Given the description of an element on the screen output the (x, y) to click on. 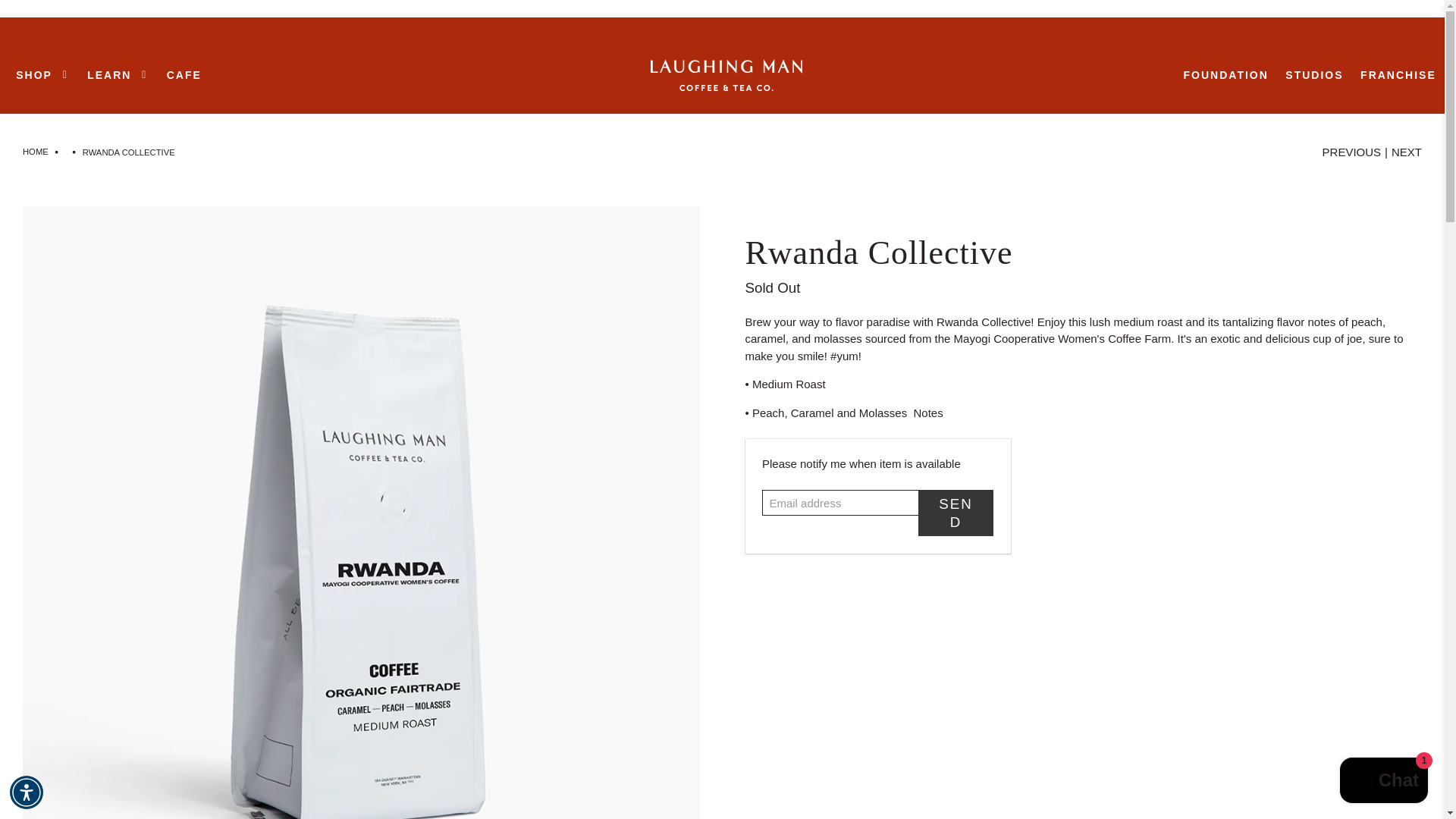
Send (955, 512)
Next (1406, 152)
FOUNDATION (1225, 75)
Rwanda Collective (1083, 252)
Laughing Man Coffee (726, 74)
Accessibility Menu (26, 792)
SHOP (42, 75)
CAFE (183, 75)
Laughing Man Coffee (35, 152)
Rwanda Collective (1083, 256)
STUDIOS (1314, 75)
Previous (1351, 152)
LEARN (117, 75)
